Given the description of an element on the screen output the (x, y) to click on. 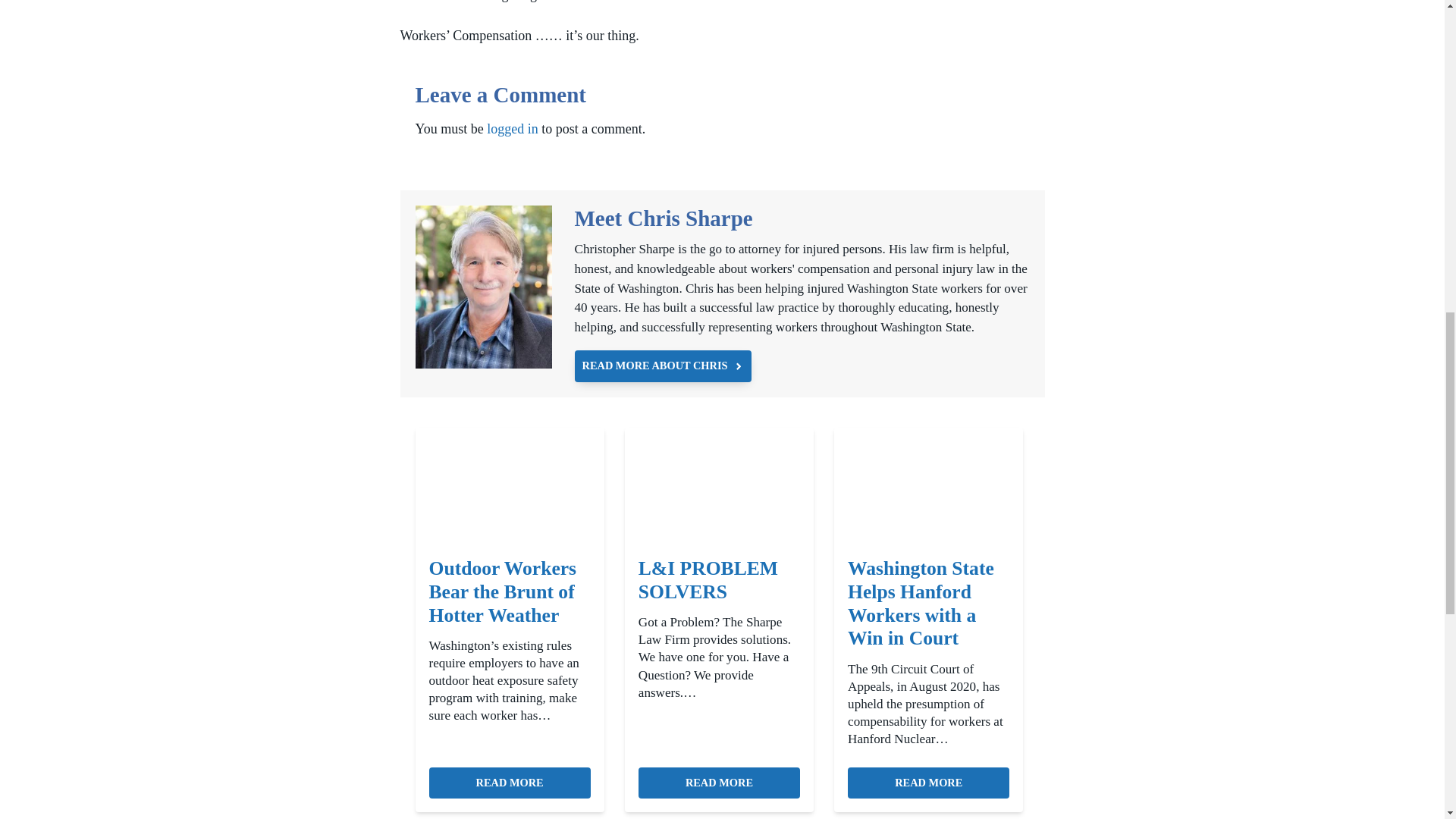
Washington State Helps Hanford Workers with a Win in Court (928, 783)
READ MORE (928, 783)
Washington State Helps Hanford Workers with a Win in Court (928, 603)
READ MORE (719, 783)
READ MORE ABOUT CHRIS (663, 366)
logged in (512, 128)
READ MORE (510, 783)
Outdoor Workers Bear the Brunt of Hotter Weather  (510, 592)
